Given the description of an element on the screen output the (x, y) to click on. 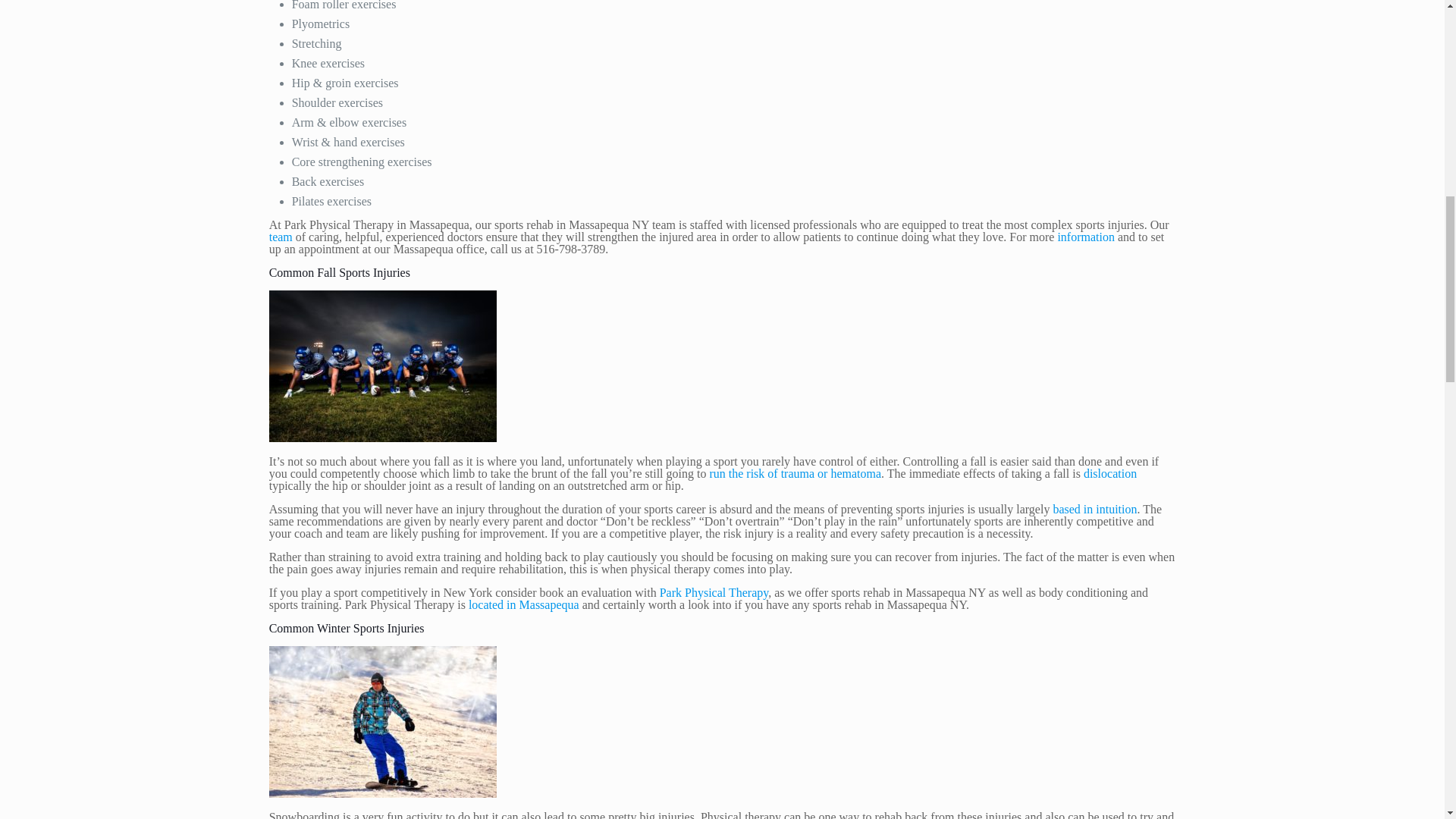
dislocation (1110, 472)
Park Physical Therapy (713, 592)
team (280, 236)
based in intuition (1094, 508)
run the risk of trauma or hematoma (793, 472)
information (1086, 236)
located in Massapequa (523, 604)
